Given the description of an element on the screen output the (x, y) to click on. 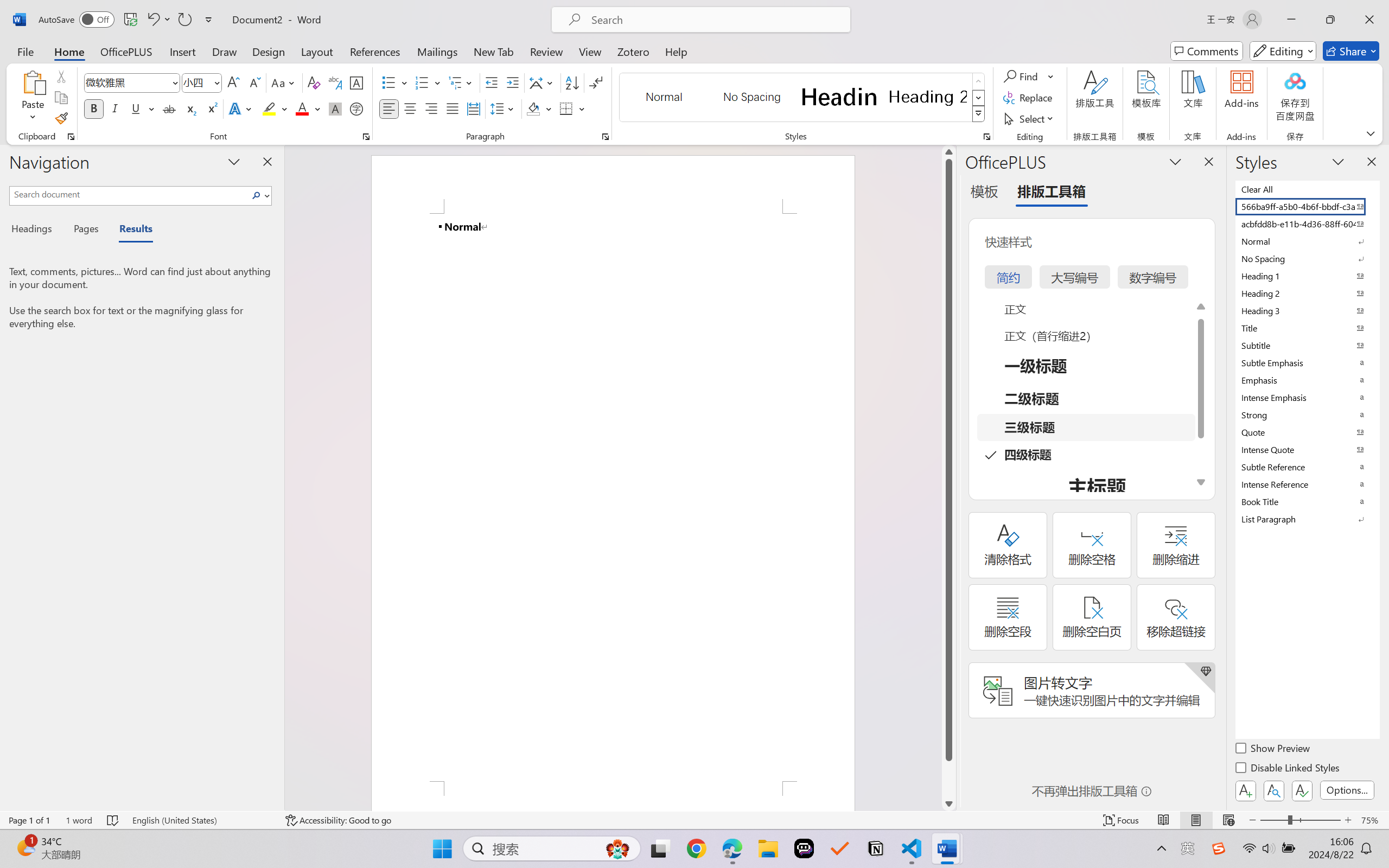
Row Down (978, 97)
Subtle Emphasis (1306, 362)
Copy (60, 97)
Insert (182, 51)
Grow Font (233, 82)
Office Clipboard... (70, 136)
